Given the description of an element on the screen output the (x, y) to click on. 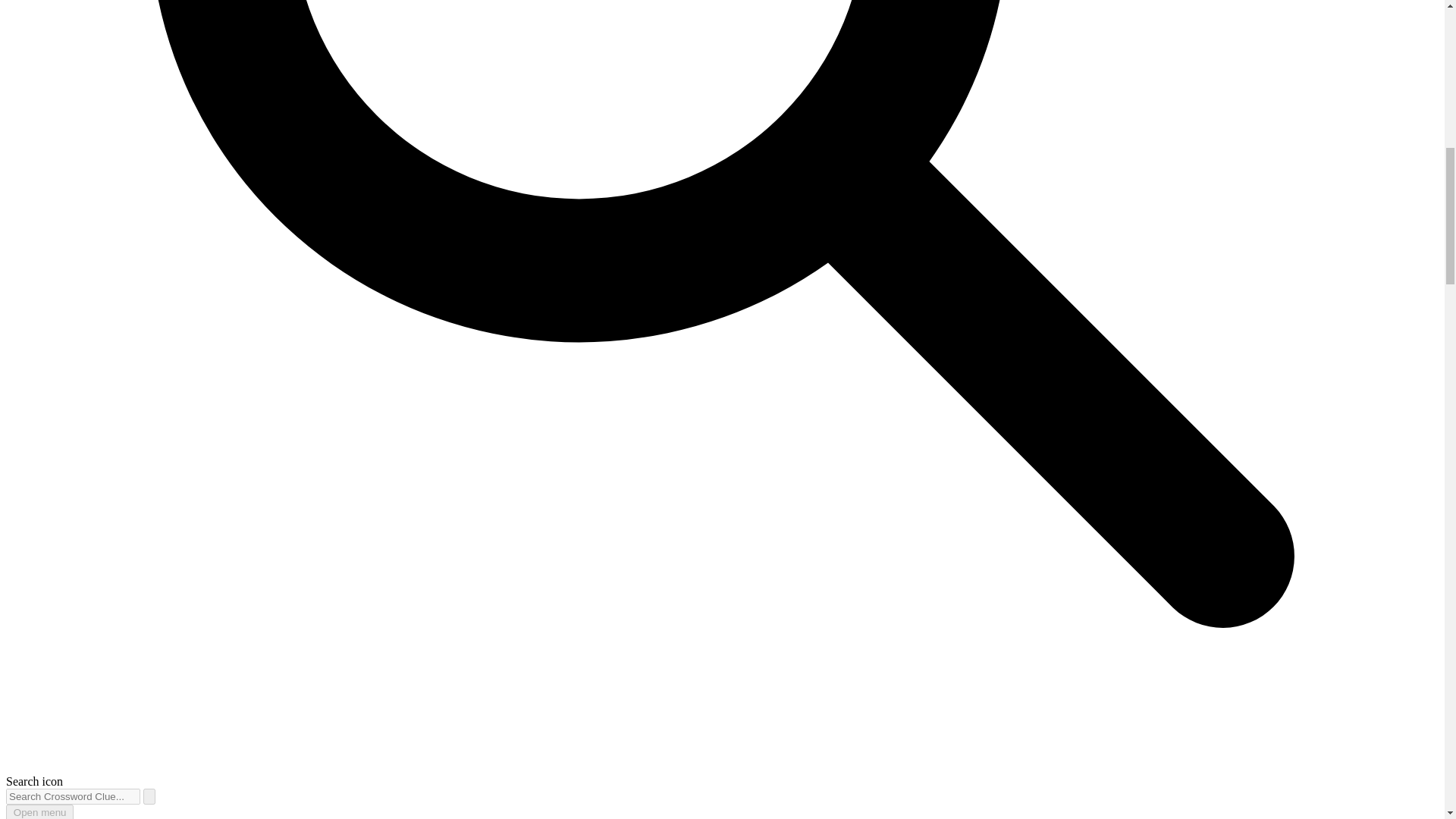
Open menu (39, 811)
